Given the description of an element on the screen output the (x, y) to click on. 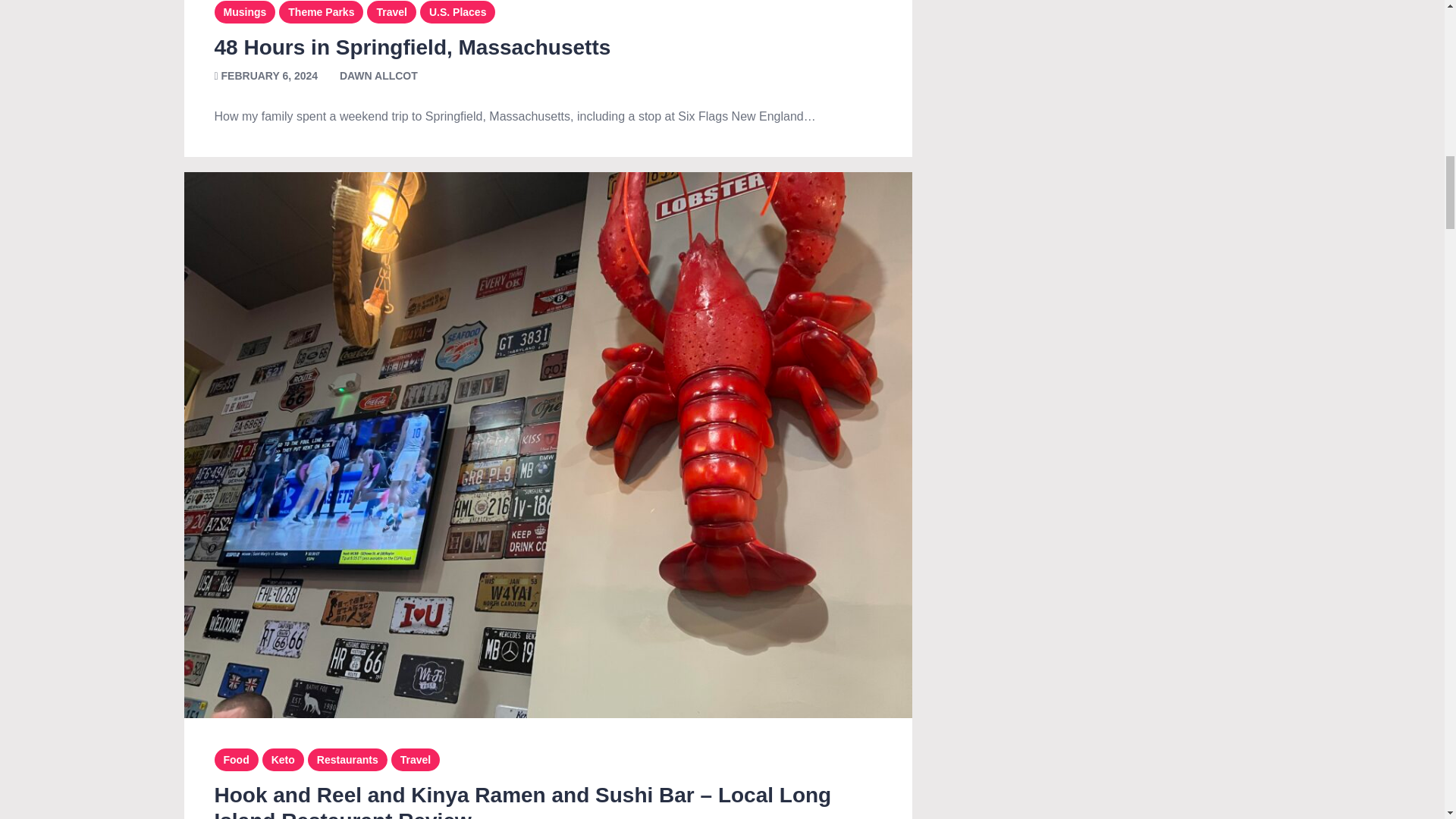
Theme Parks (320, 11)
Musings (244, 11)
U.S. Places (458, 11)
Travel (390, 11)
